Given the description of an element on the screen output the (x, y) to click on. 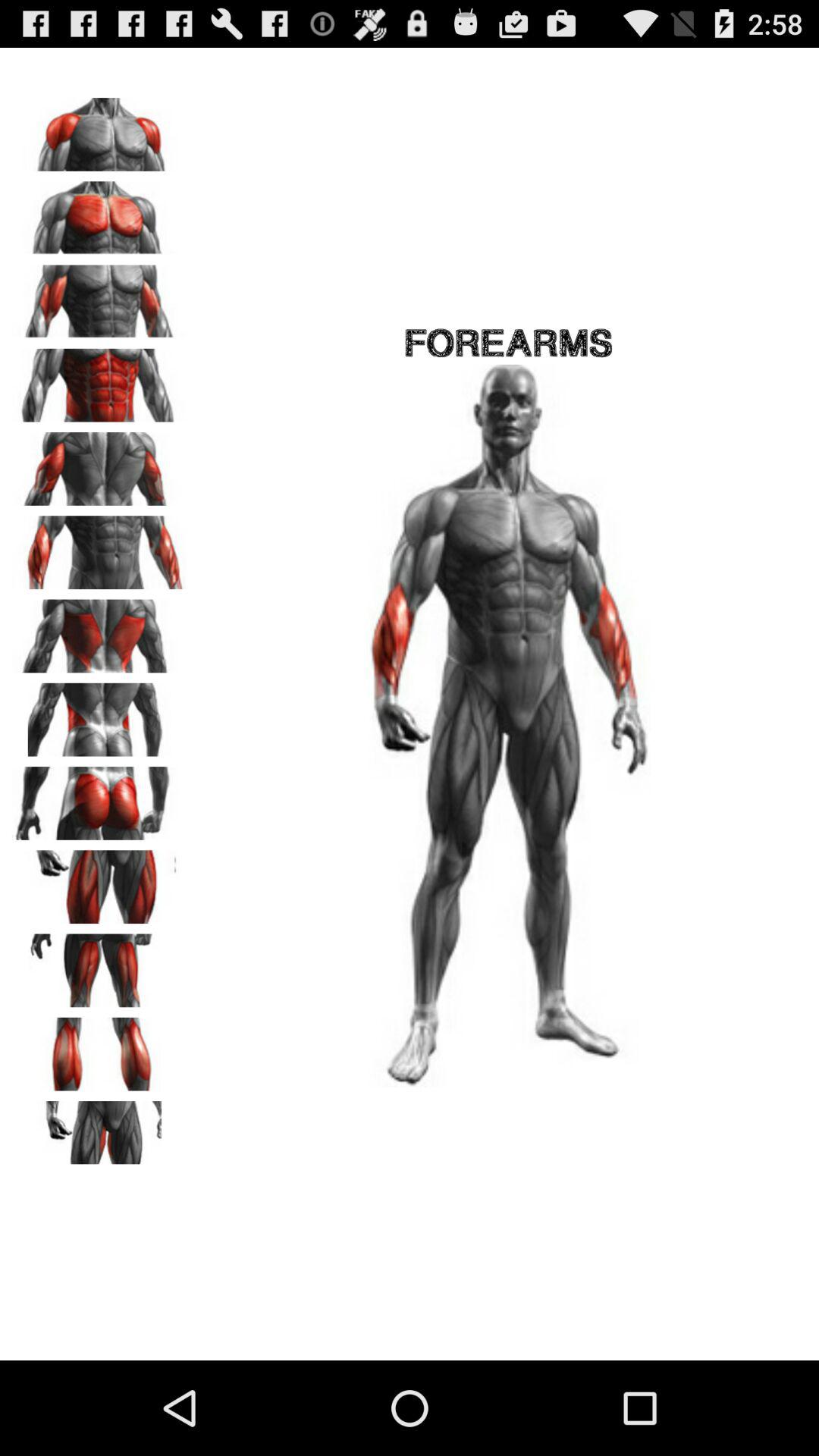
show 7th visual (99, 630)
